Given the description of an element on the screen output the (x, y) to click on. 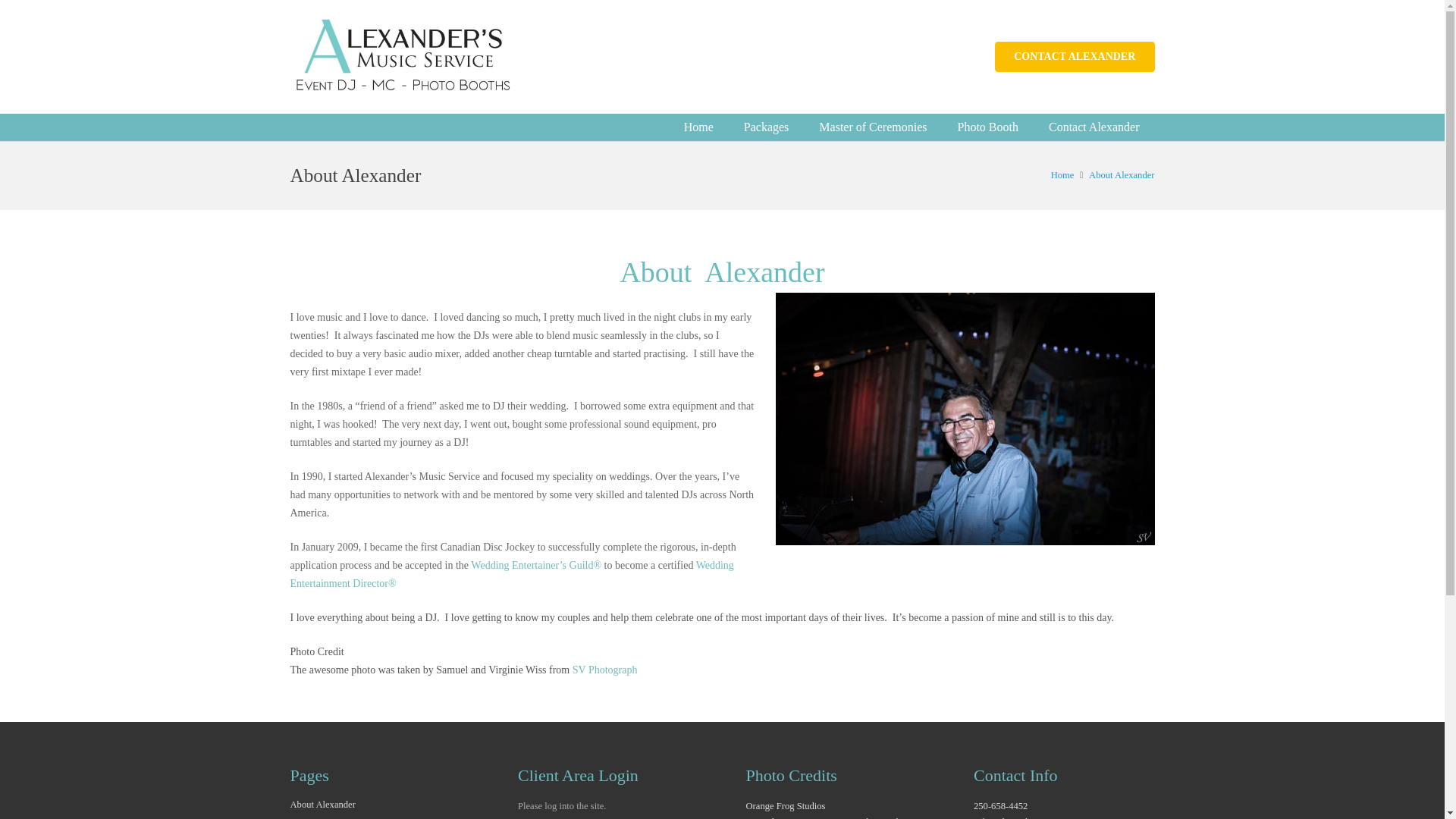
Photo Booth (987, 126)
Master of Ceremonies (872, 126)
Orange Frog Studios (785, 805)
Packages (767, 126)
Home (698, 126)
SV Photograph (604, 669)
About Alexander (1121, 174)
Home (1062, 174)
Contact Alexander (1093, 126)
CONTACT ALEXANDER (1074, 56)
About Alexander (322, 804)
250-658-4452 (1000, 805)
